Given the description of an element on the screen output the (x, y) to click on. 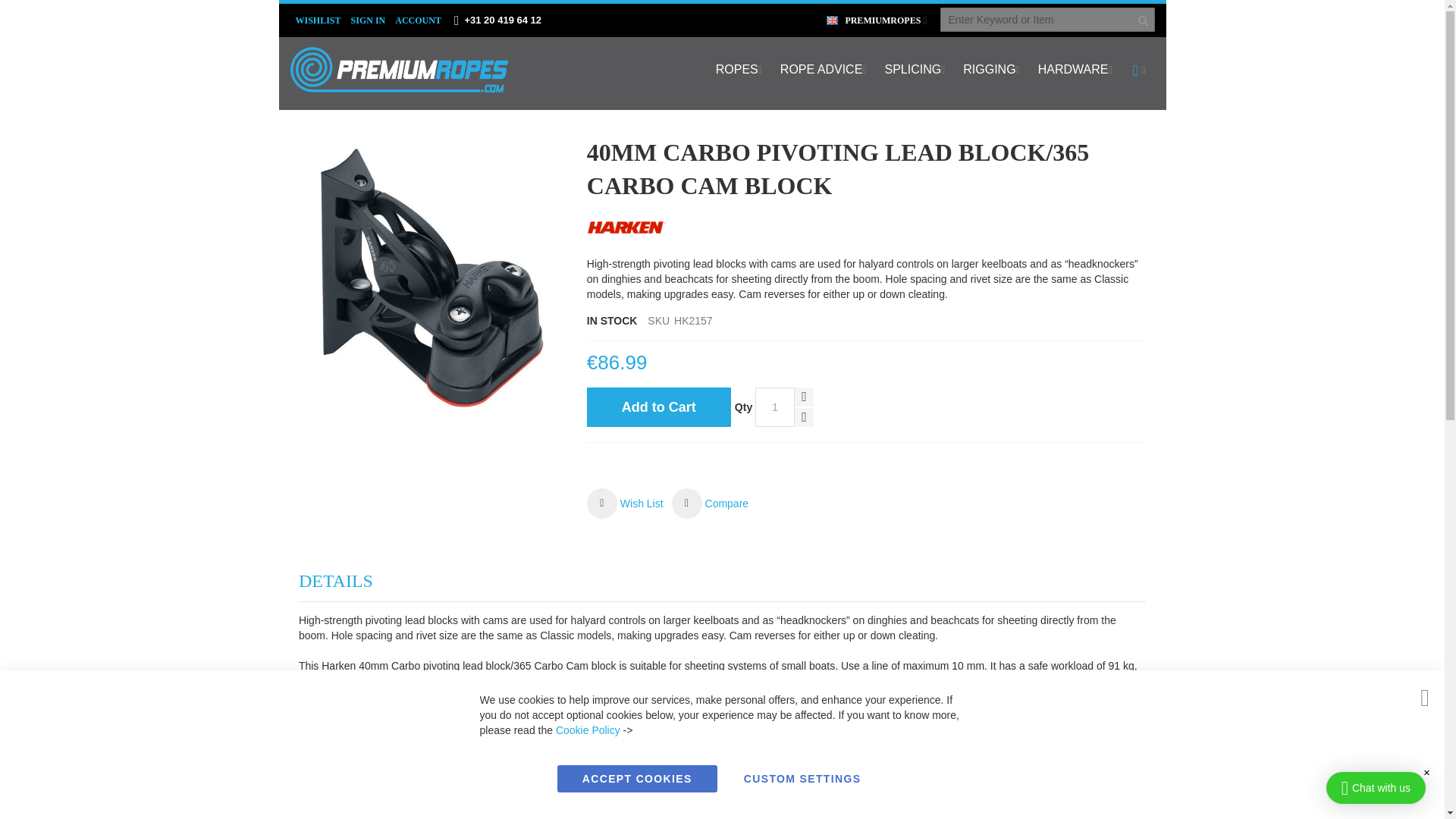
Language (874, 20)
Compare (710, 503)
Qty (774, 406)
Availability (611, 321)
1 (774, 406)
Add to Cart (658, 406)
ACCOUNT (418, 20)
Harken (626, 227)
ROPE ADVICE (823, 69)
Wish List (624, 503)
WISHLIST (317, 20)
ROPES (738, 69)
SIGN IN (368, 20)
Search (1143, 20)
